Given the description of an element on the screen output the (x, y) to click on. 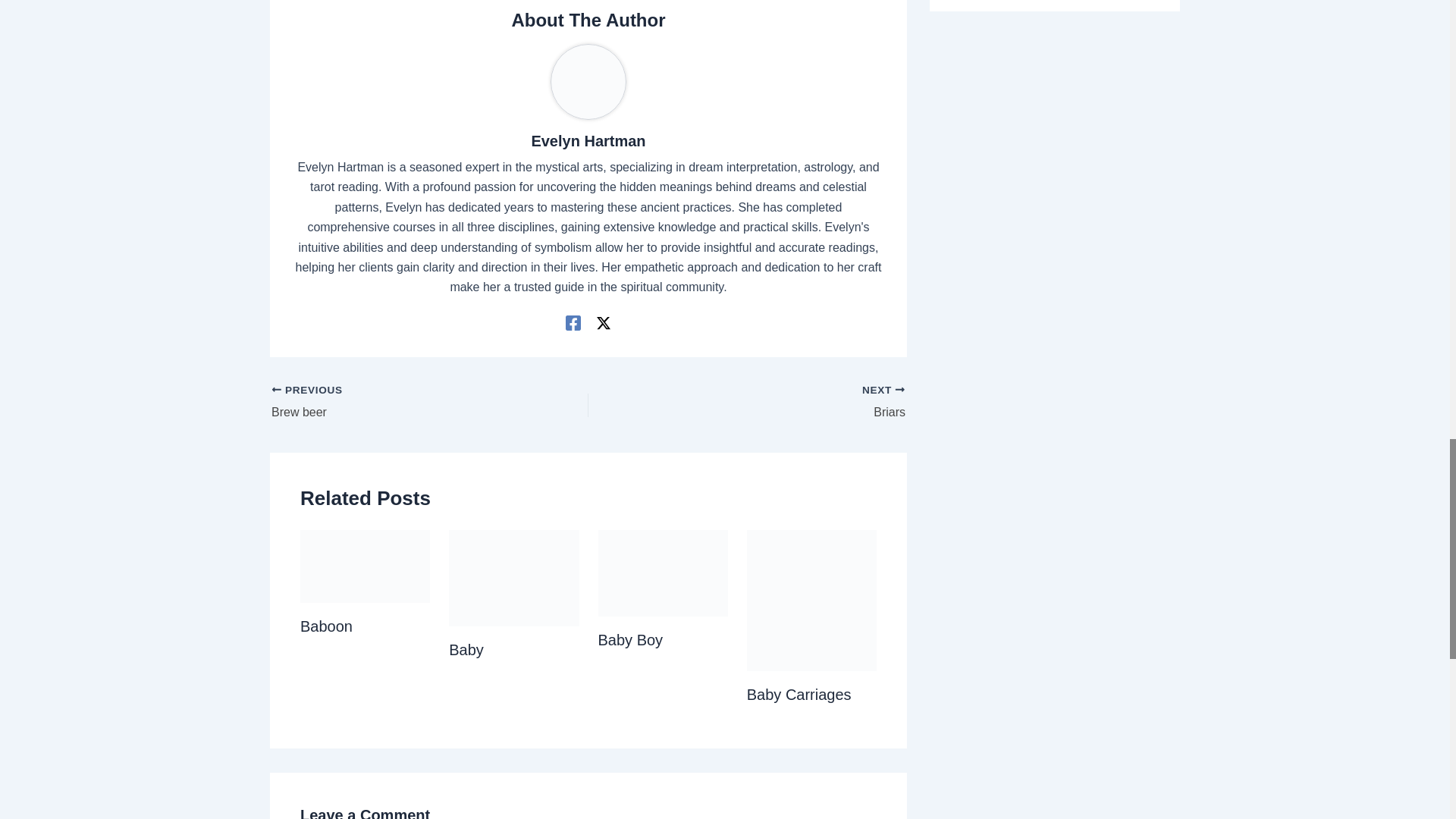
Briars (777, 402)
Brew beer (397, 402)
